Given the description of an element on the screen output the (x, y) to click on. 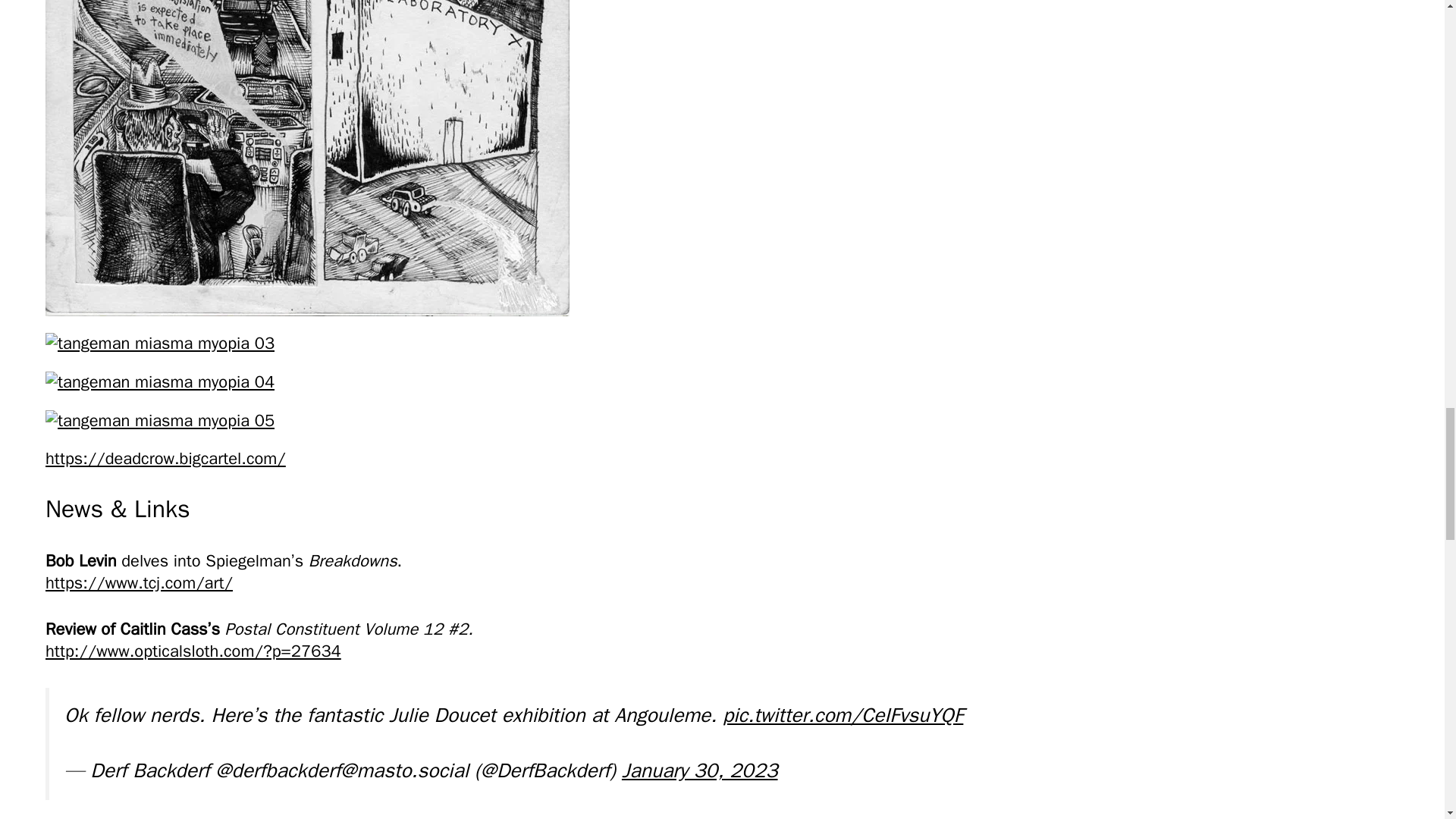
January 30, 2023 (699, 770)
